Given the description of an element on the screen output the (x, y) to click on. 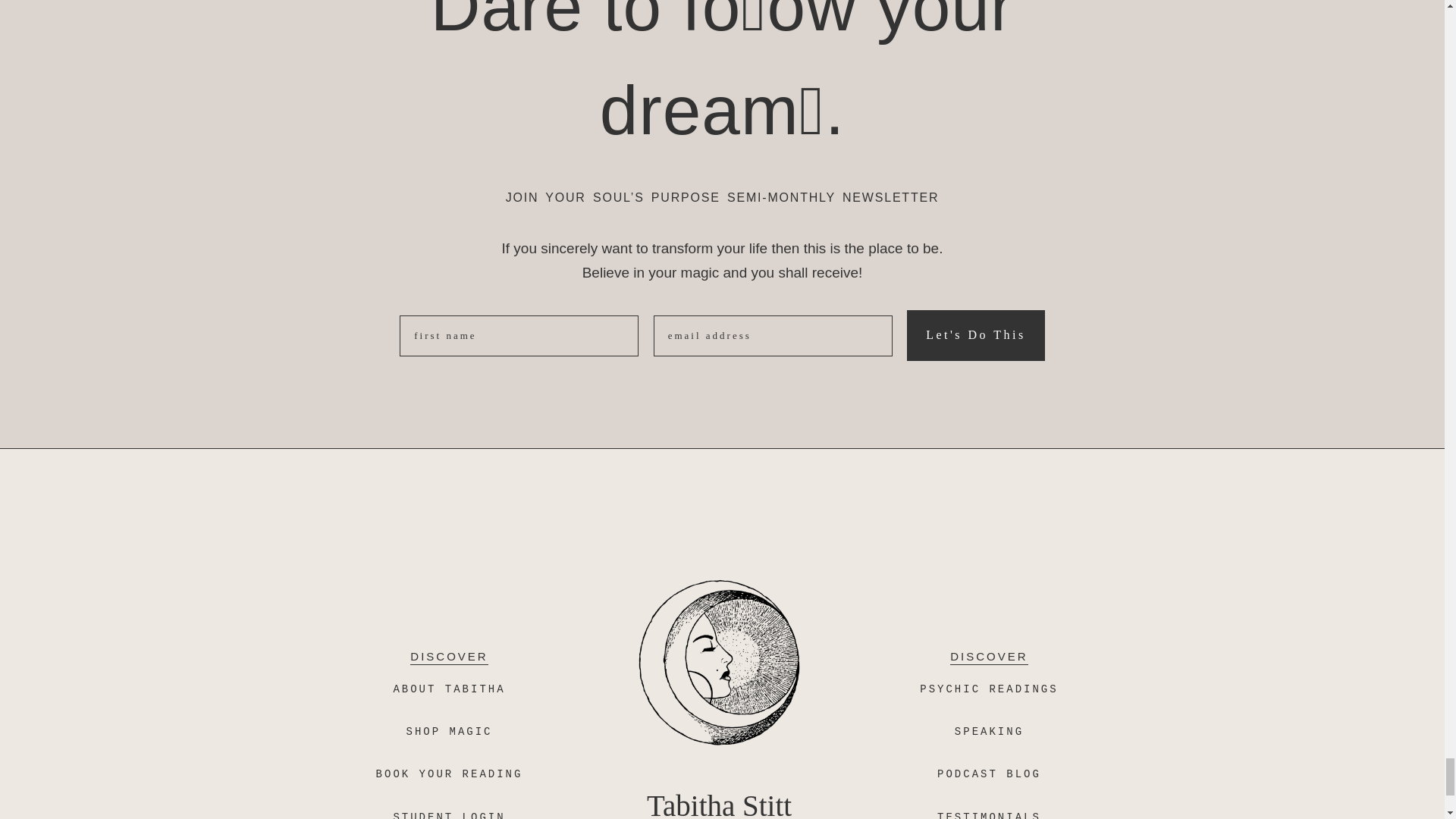
Let's Do This (976, 335)
